Given the description of an element on the screen output the (x, y) to click on. 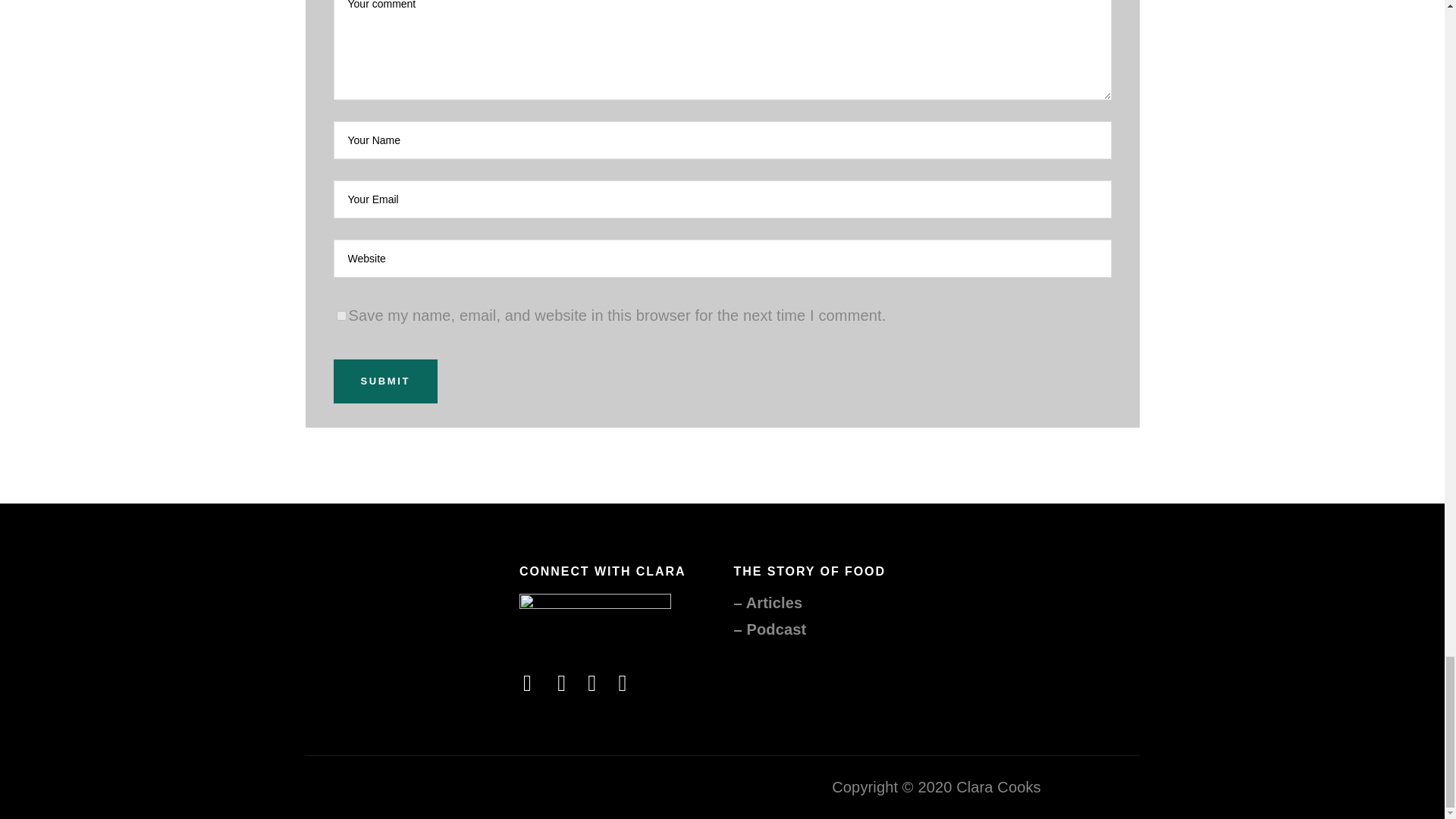
Submit (385, 381)
yes (341, 316)
Connect with Clara (595, 616)
